Given the description of an element on the screen output the (x, y) to click on. 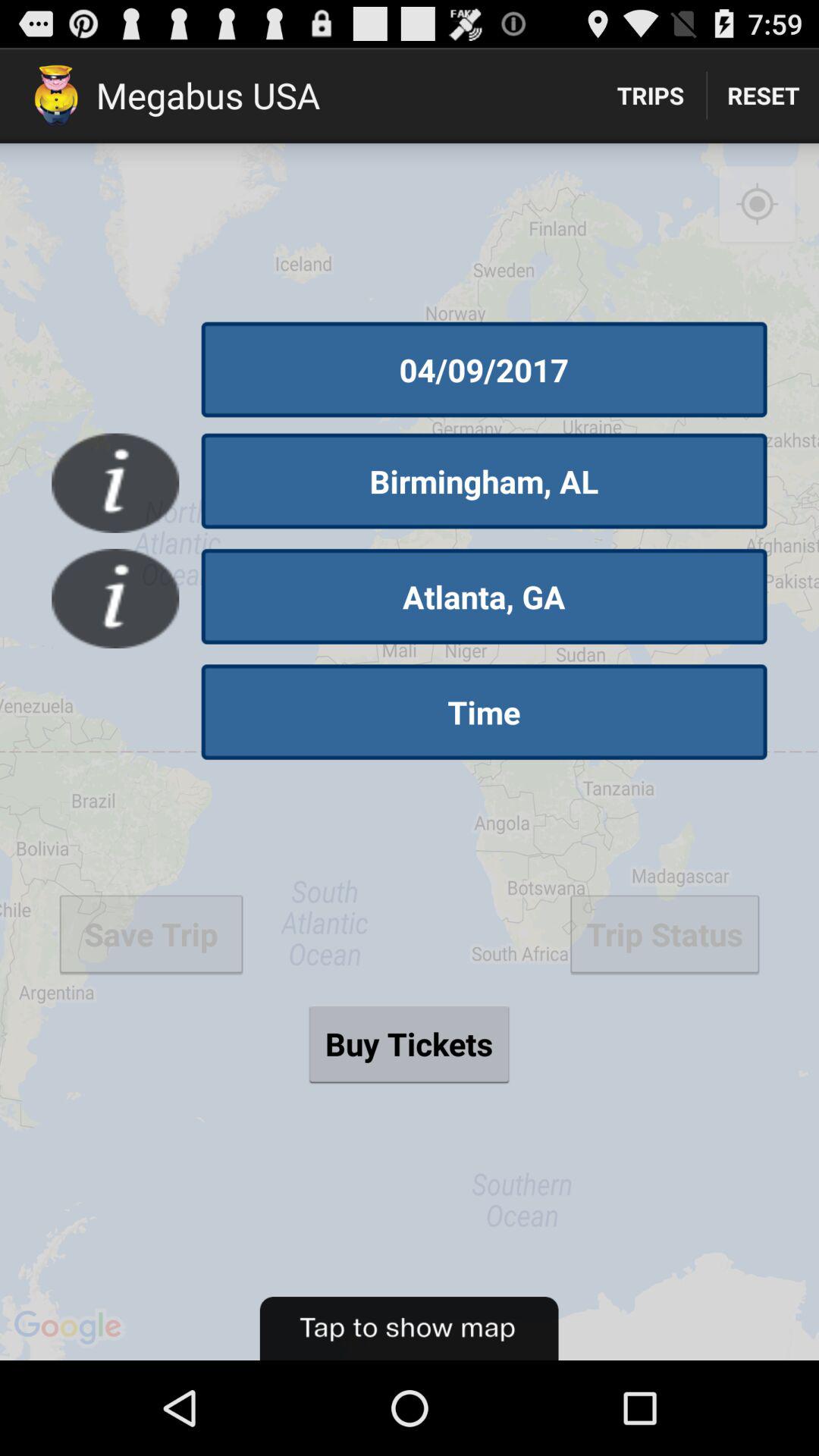
flip to time button (484, 711)
